Given the description of an element on the screen output the (x, y) to click on. 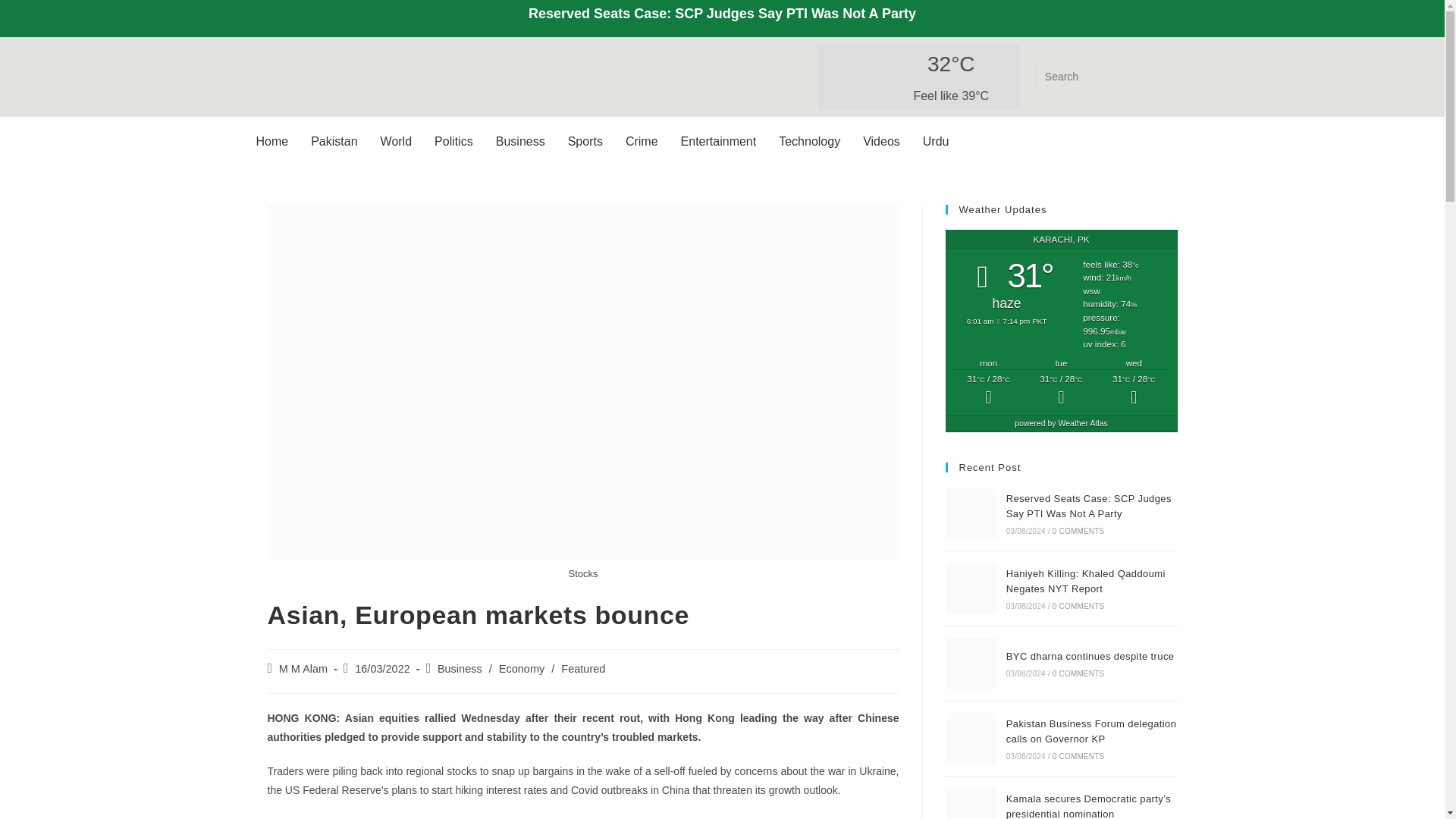
Showers (1061, 390)
Politics (453, 141)
Technology (809, 141)
BYC dharna continues despite truce (969, 663)
Crime (641, 141)
Sports (585, 141)
Business (459, 668)
Feels like (951, 96)
Home (271, 141)
Posts by M M Alam (303, 668)
Business (520, 141)
M M Alam (303, 668)
Pakistan (333, 141)
Urdu (935, 141)
Reserved Seats Case: SCP Judges Say PTI Was Not A Party (969, 512)
